Given the description of an element on the screen output the (x, y) to click on. 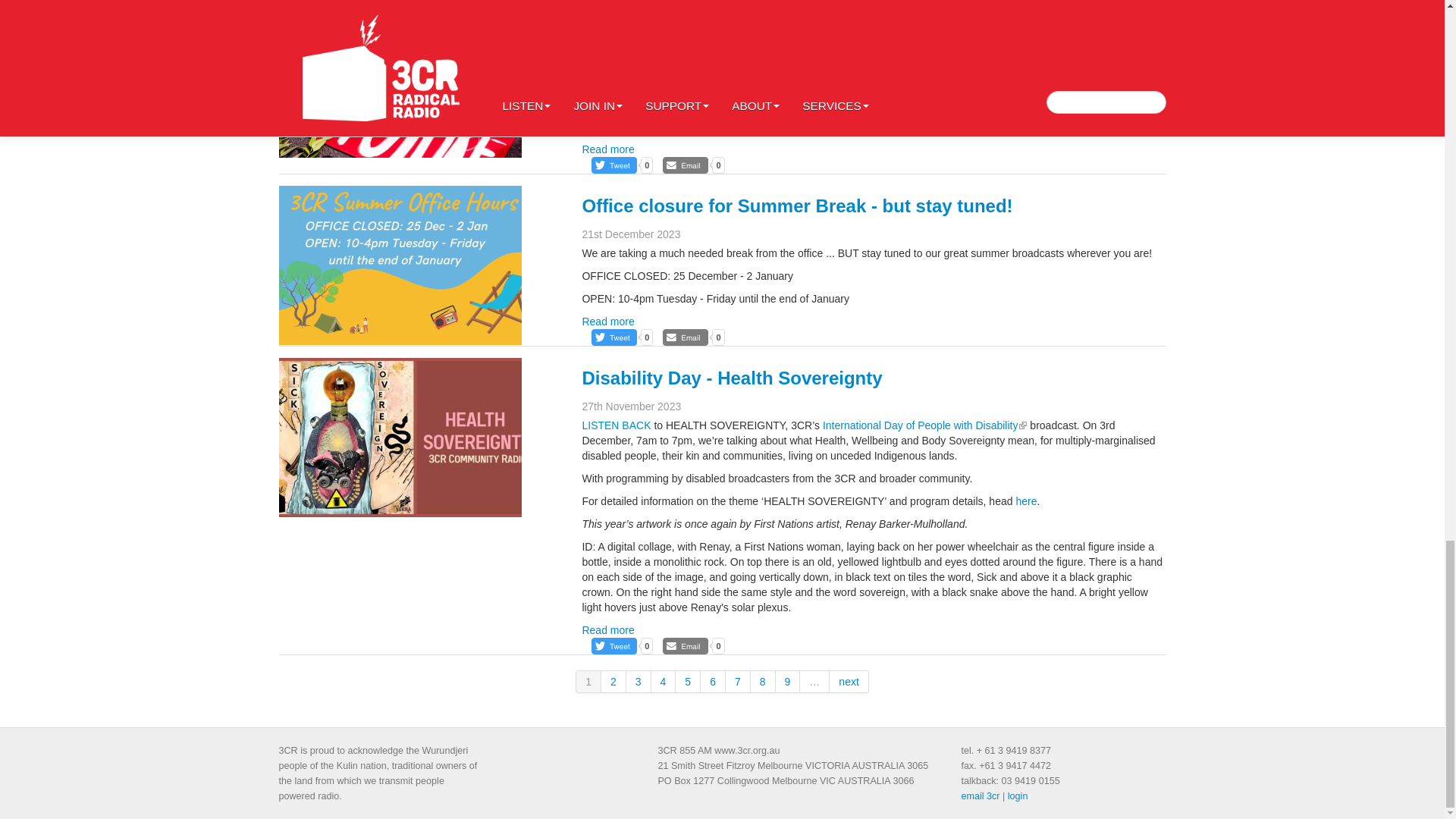
Invasion Day 2024  (400, 79)
Station office closure  (400, 264)
